Given the description of an element on the screen output the (x, y) to click on. 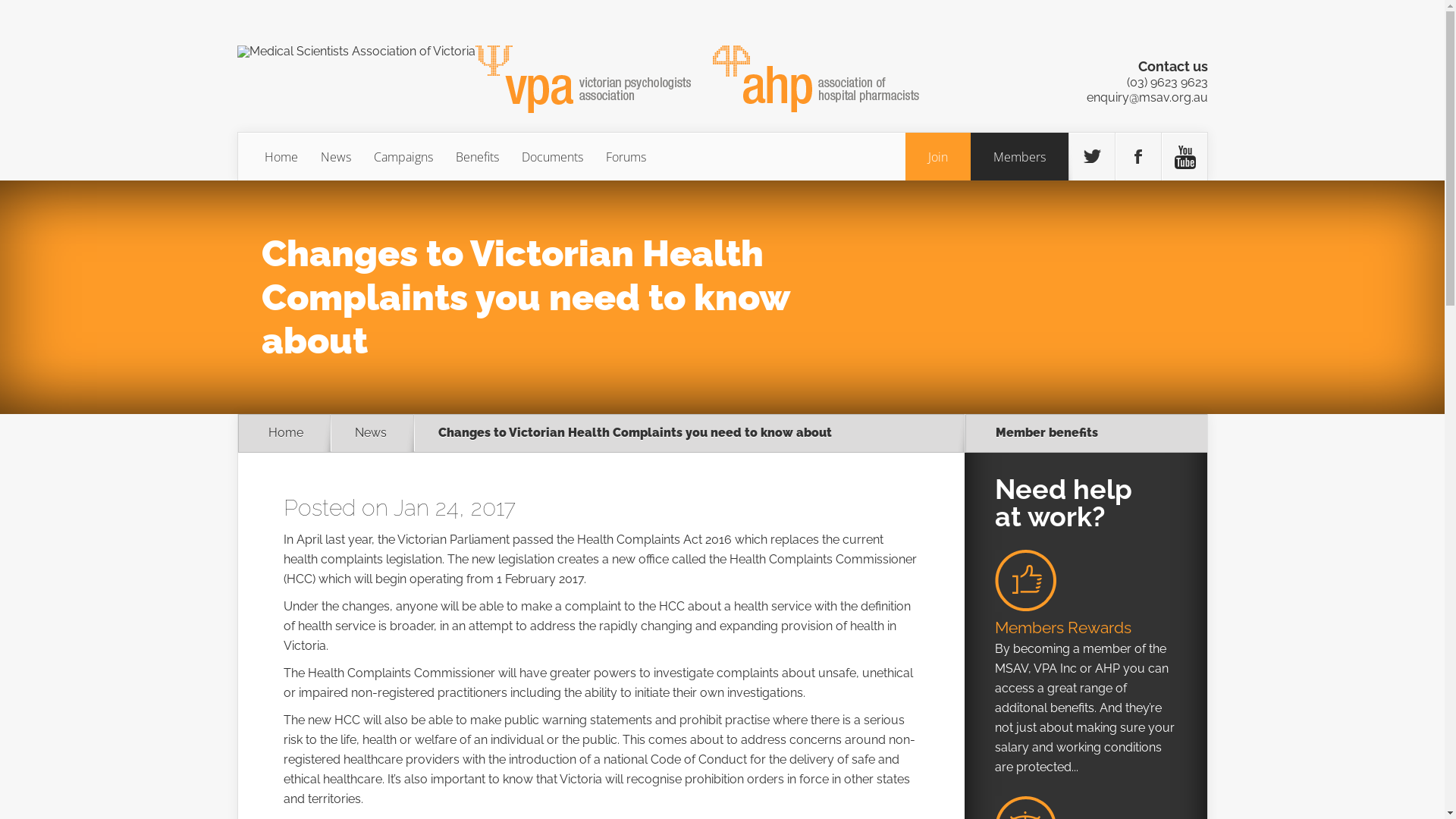
Forums Element type: text (625, 156)
(03) 9623 9623 Element type: text (1167, 82)
Documents Element type: text (551, 156)
Follow us on YouTube Element type: text (1184, 156)
Contact us Element type: text (1172, 66)
Home Element type: text (285, 432)
Follow us on Facebook Element type: text (1137, 156)
Campaigns Element type: text (403, 156)
Members Element type: text (1019, 156)
Follow us on Twitter Element type: text (1091, 156)
News Element type: text (379, 432)
Join Element type: text (937, 156)
News Element type: text (335, 156)
Home Element type: text (281, 156)
Benefits Element type: text (477, 156)
enquiry@msav.org.au Element type: text (1146, 97)
